Given the description of an element on the screen output the (x, y) to click on. 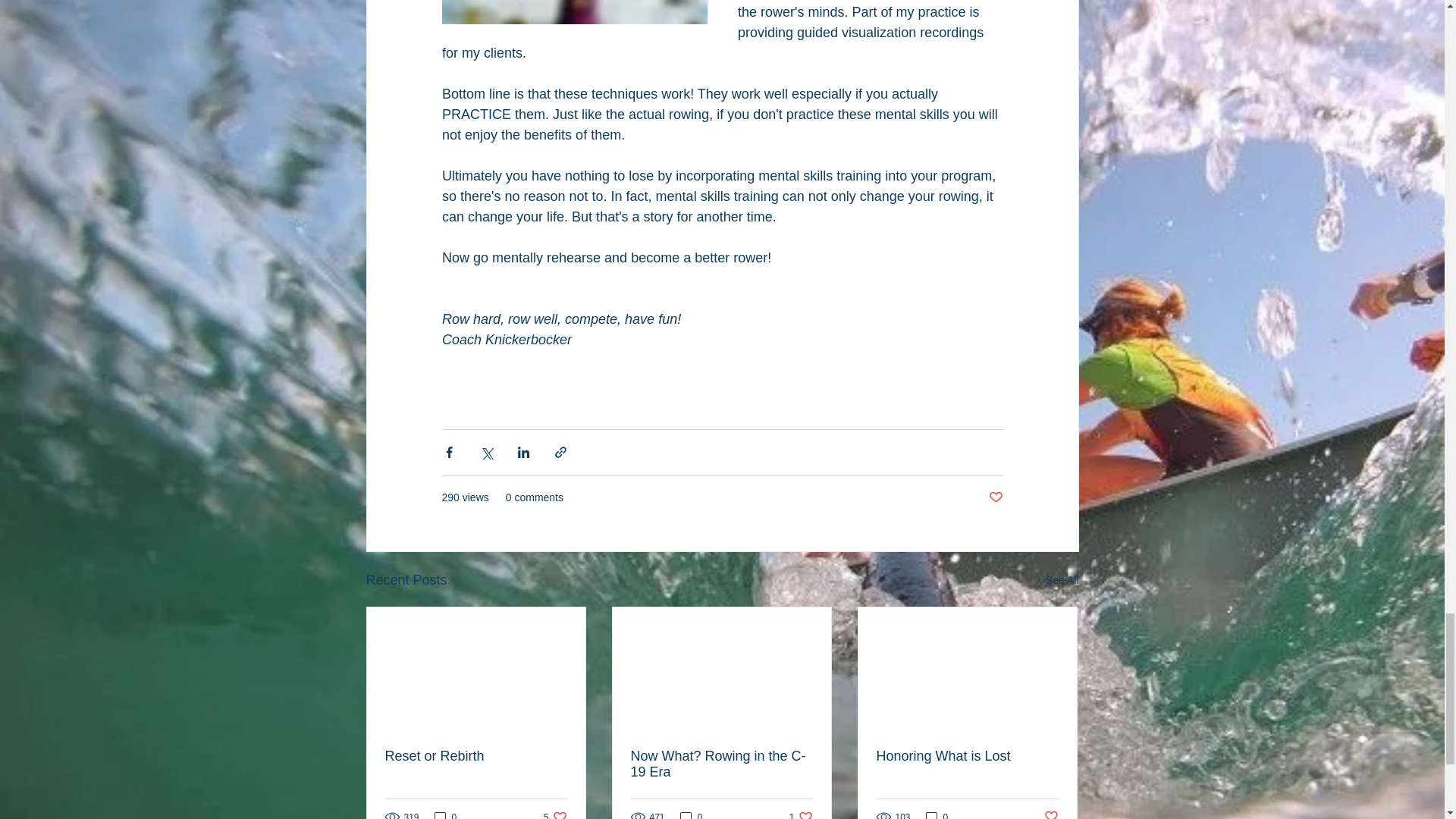
Honoring What is Lost (967, 756)
Post not marked as liked (1050, 814)
0 (691, 814)
0 (937, 814)
See All (800, 814)
Post not marked as liked (555, 814)
Now What? Rowing in the C-19 Era (1061, 580)
0 (995, 497)
Reset or Rebirth (721, 764)
